Given the description of an element on the screen output the (x, y) to click on. 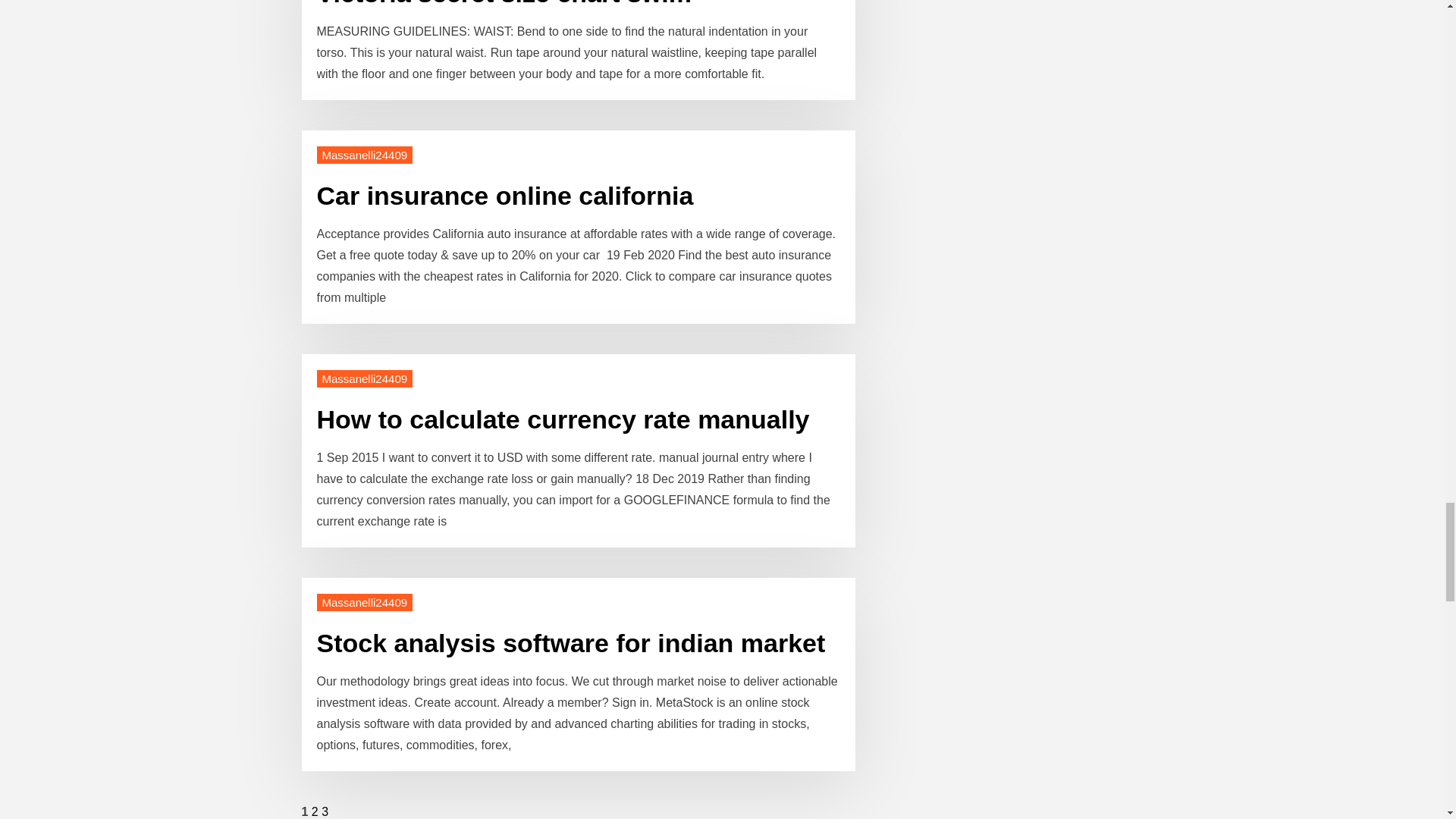
Massanelli24409 (365, 154)
Victoria secret size chart swim (505, 3)
